Given the description of an element on the screen output the (x, y) to click on. 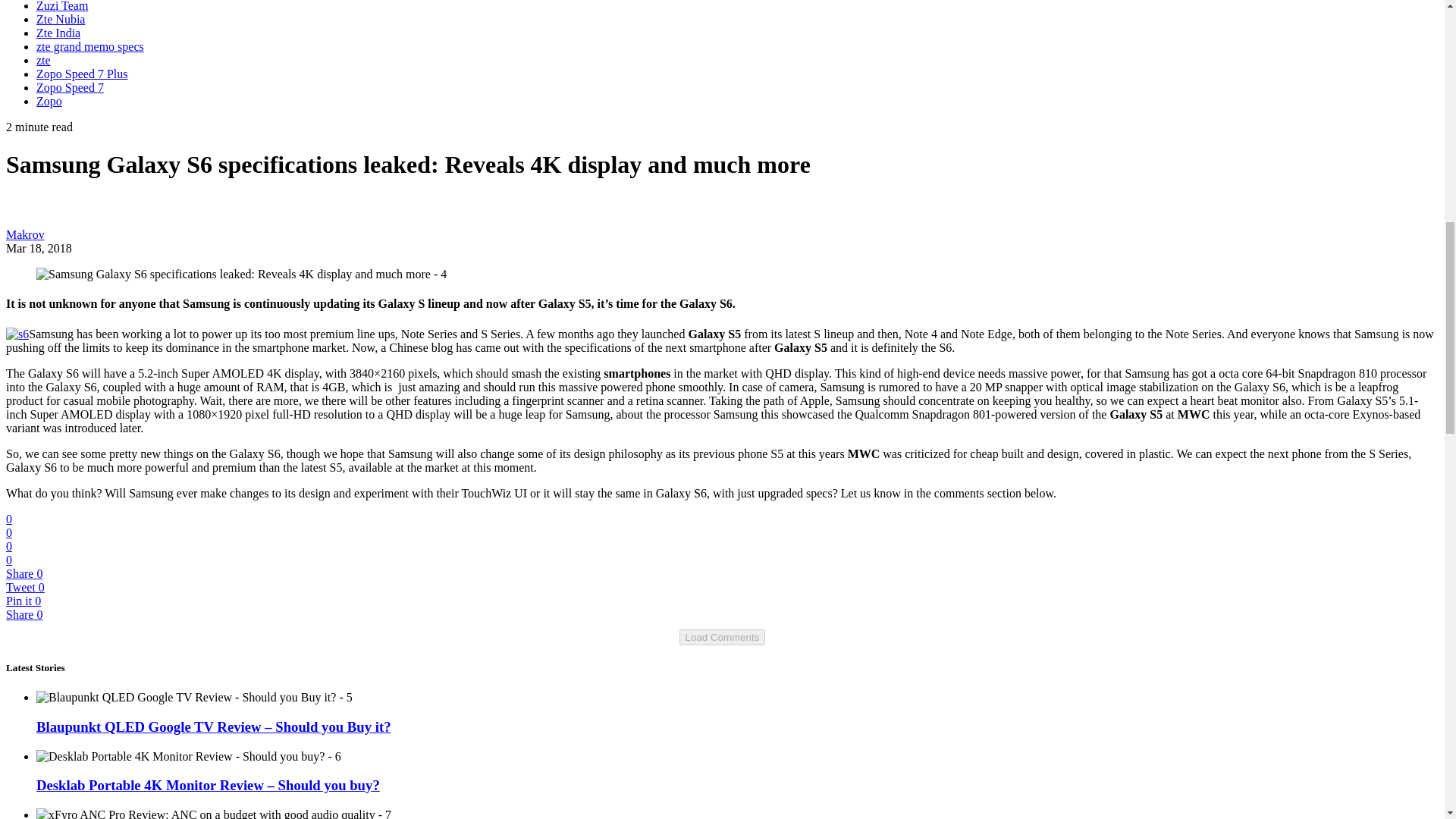
Zopo Speed 7 (69, 87)
Zte Nubia (60, 19)
zte grand memo specs (90, 46)
Blaupunkt QLED Google TV Review - Should you Buy it? - 6 (194, 697)
Zuzi Team (61, 6)
Zopo Speed 7 Plus (82, 73)
Desklab Portable 4K Monitor Review - Should you buy? - 7 (188, 756)
Zte India (58, 32)
zte (43, 60)
